Given the description of an element on the screen output the (x, y) to click on. 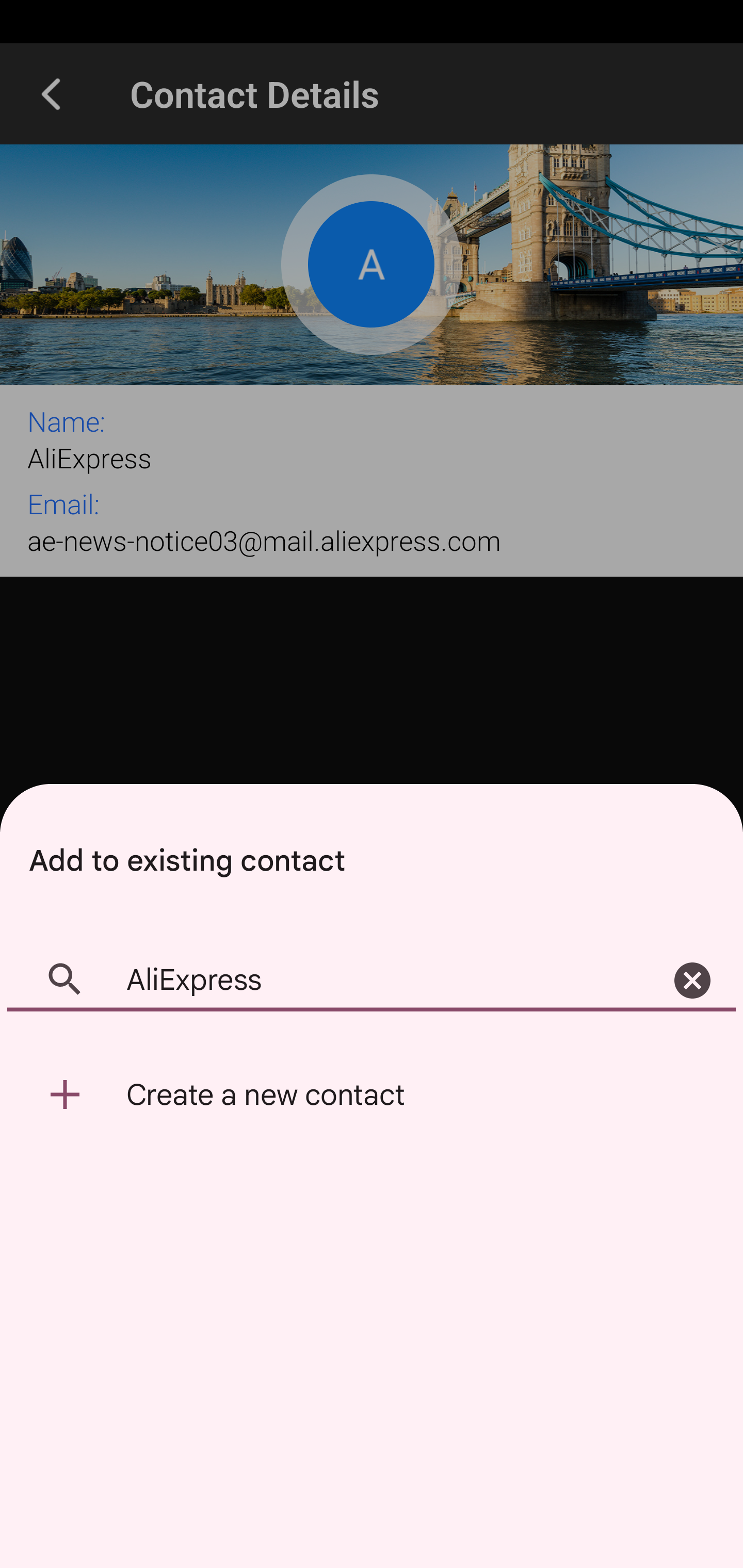
AliExpress (371, 980)
Clear search (692, 980)
Create a new contact (371, 1094)
